Given the description of an element on the screen output the (x, y) to click on. 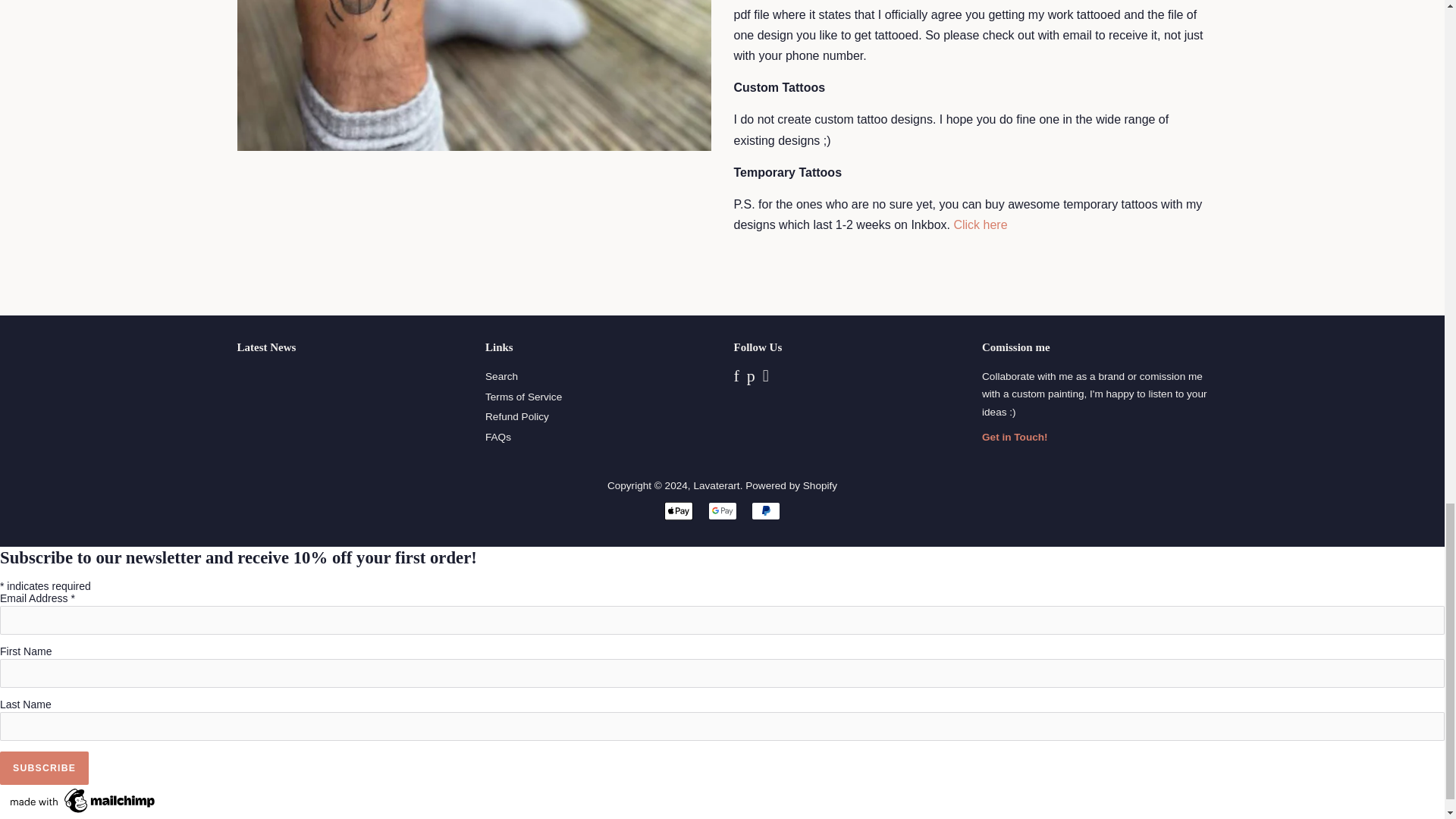
Google Pay (721, 511)
Subscribe (44, 767)
Apple Pay (678, 511)
PayPal (765, 511)
